Given the description of an element on the screen output the (x, y) to click on. 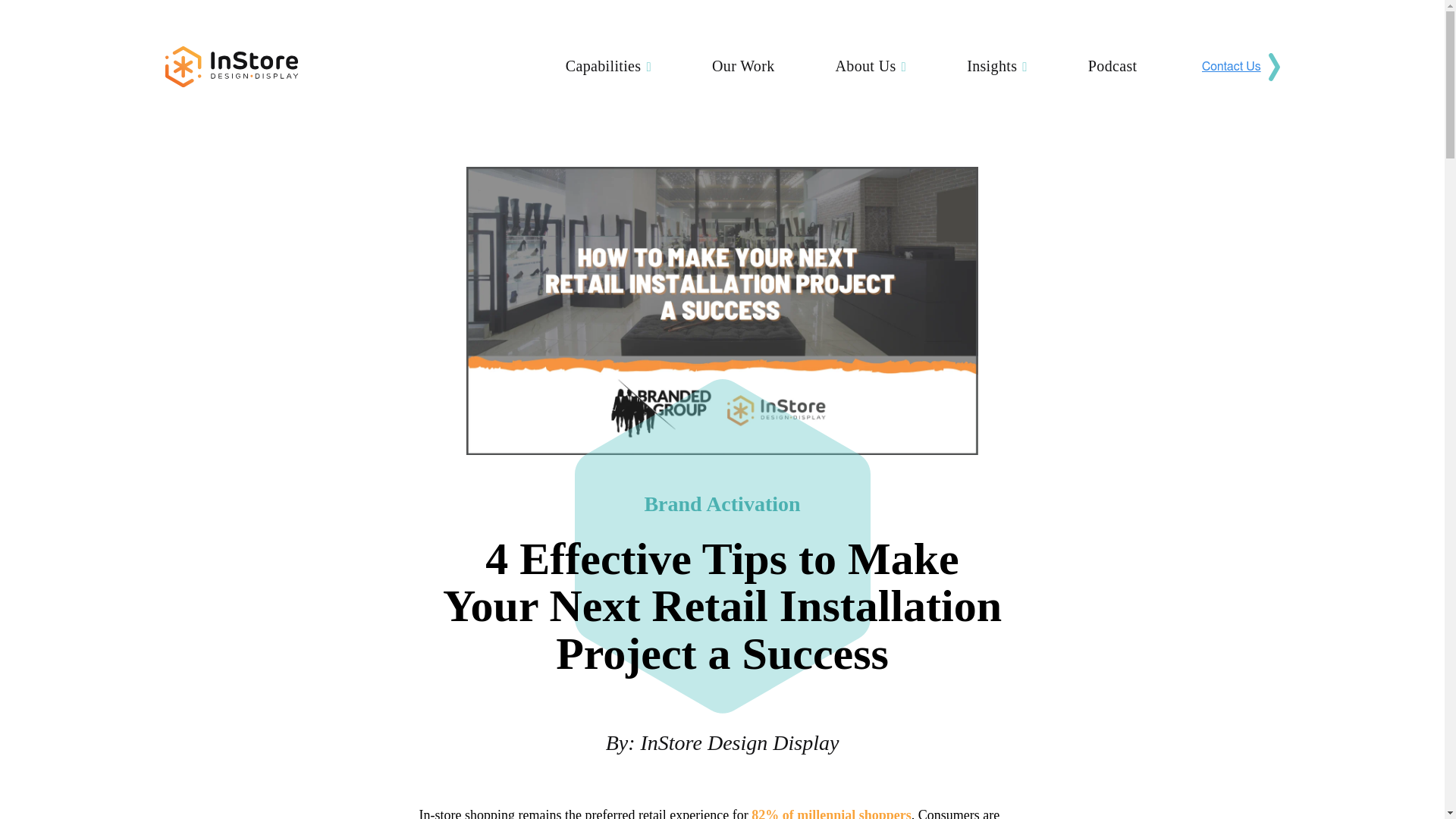
Capabilities (608, 66)
About Us (871, 66)
Our Work (743, 65)
Brand Activation (721, 504)
Insights (997, 66)
InStore Design Display (740, 743)
Podcast (1112, 65)
